Given the description of an element on the screen output the (x, y) to click on. 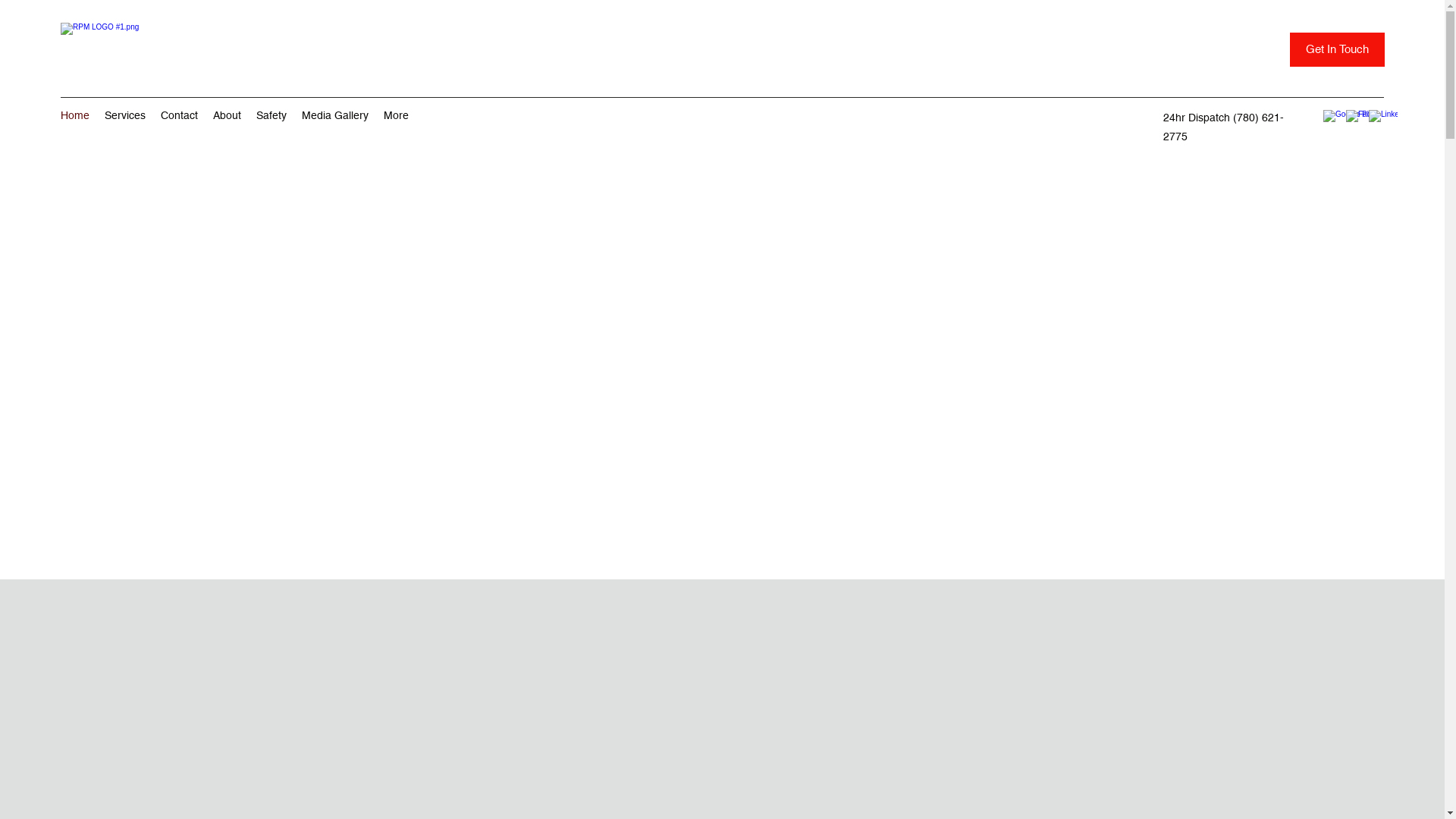
About Element type: text (226, 117)
Services Element type: text (125, 117)
Media Gallery Element type: text (335, 117)
Safety Element type: text (271, 117)
Home Element type: text (75, 117)
Contact Element type: text (179, 117)
Get In Touch Element type: text (1336, 49)
